Given the description of an element on the screen output the (x, y) to click on. 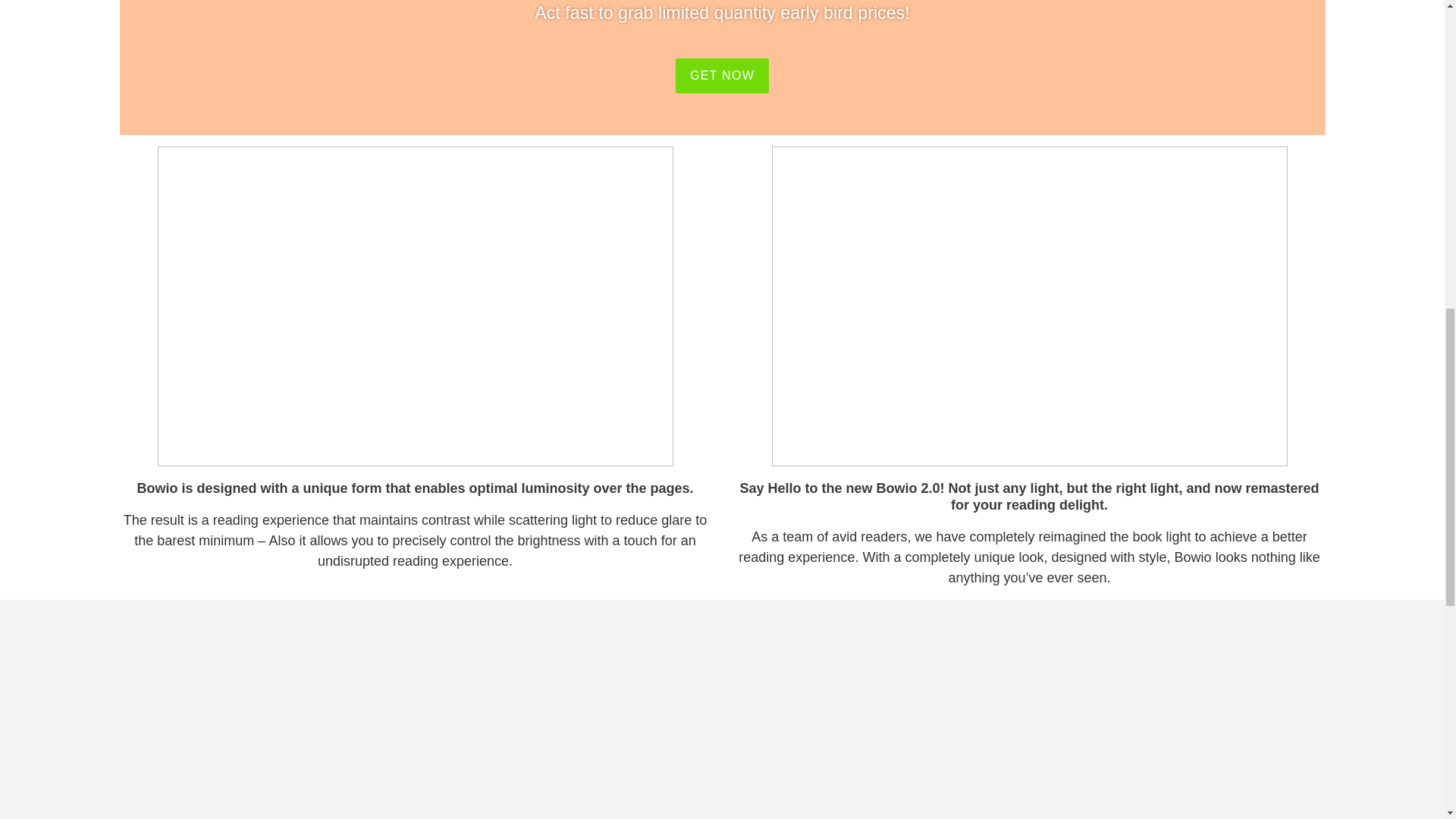
GET NOW (721, 75)
